Given the description of an element on the screen output the (x, y) to click on. 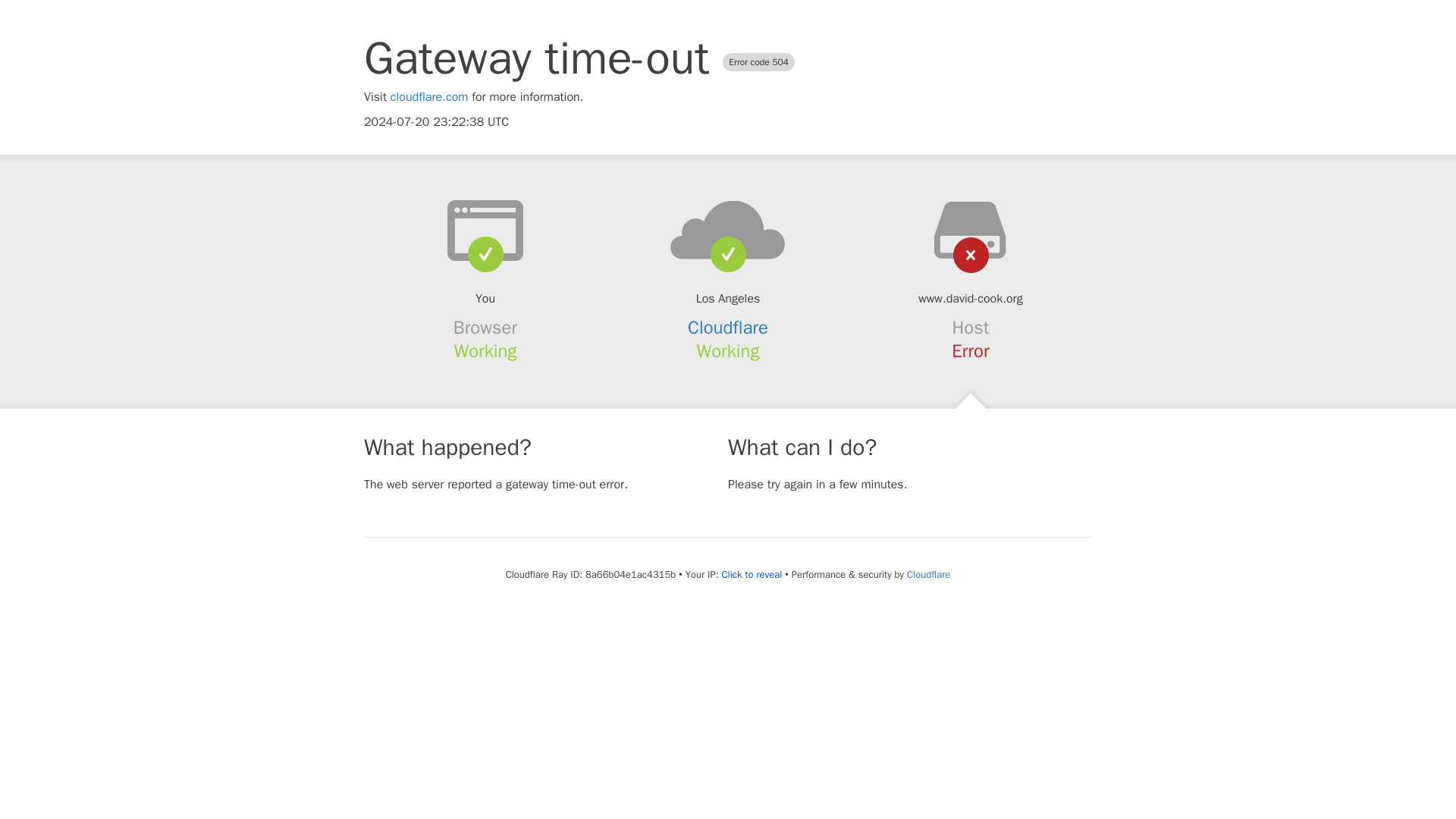
Click to reveal (750, 574)
Cloudflare (928, 574)
cloudflare.com (429, 96)
Cloudflare (727, 327)
